Given the description of an element on the screen output the (x, y) to click on. 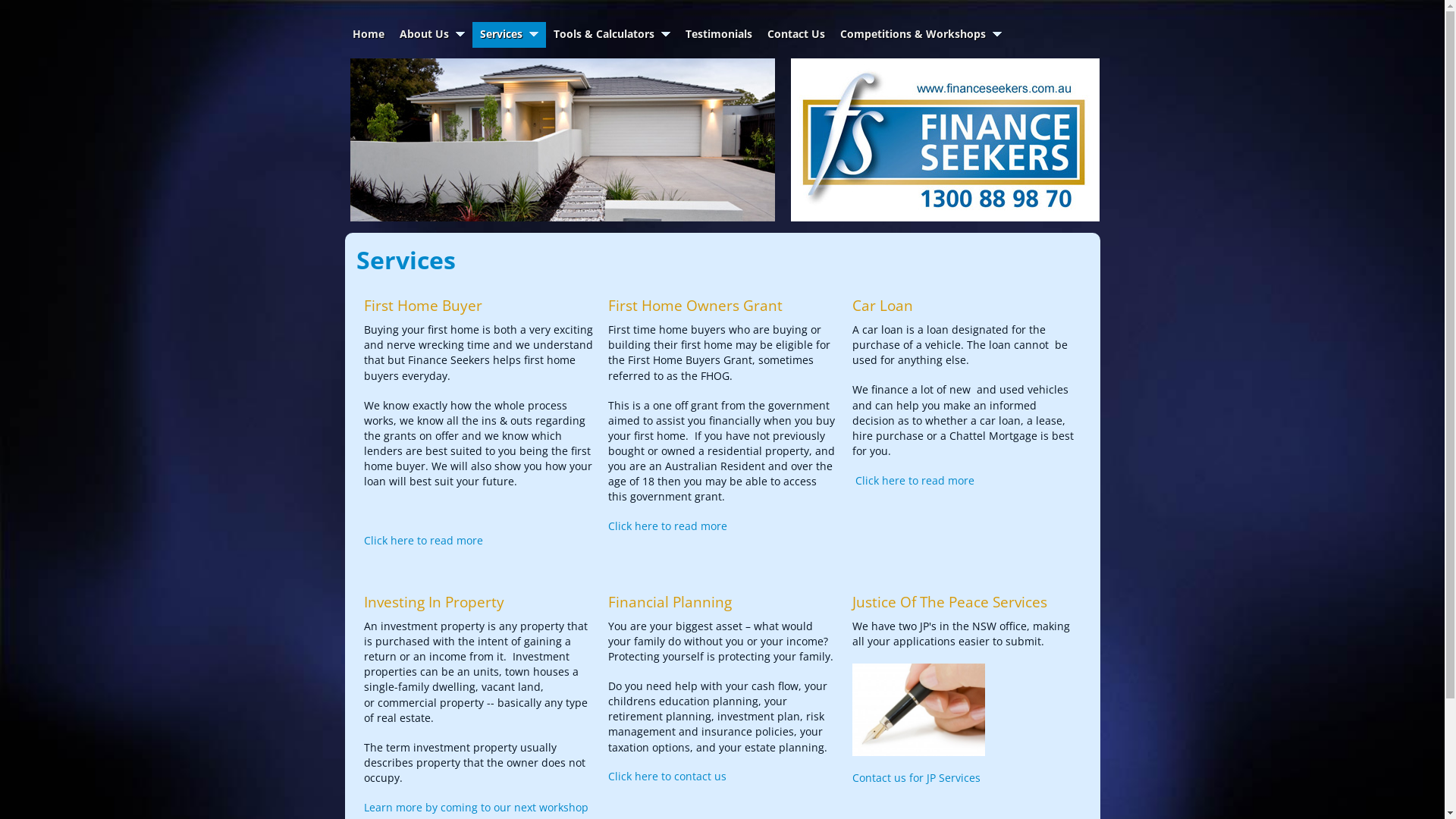
Contact Us Element type: text (796, 34)
Click here to read more Element type: text (423, 540)
About Us Element type: text (431, 34)
Home Element type: text (367, 34)
Competitions & Workshops Element type: text (920, 34)
Click here to read more Element type: text (914, 480)
Learn more by coming to our next workshop Element type: text (476, 807)
Contact us for JP Services Element type: text (916, 777)
Services Element type: text (508, 34)
Click here to contact us Element type: text (667, 775)
Testimonials Element type: text (718, 34)
Finance Seekers Element type: hover (944, 138)
Tools & Calculators Element type: text (611, 34)
Finance Seekers Element type: hover (944, 139)
Click here to read more Element type: text (667, 525)
